Given the description of an element on the screen output the (x, y) to click on. 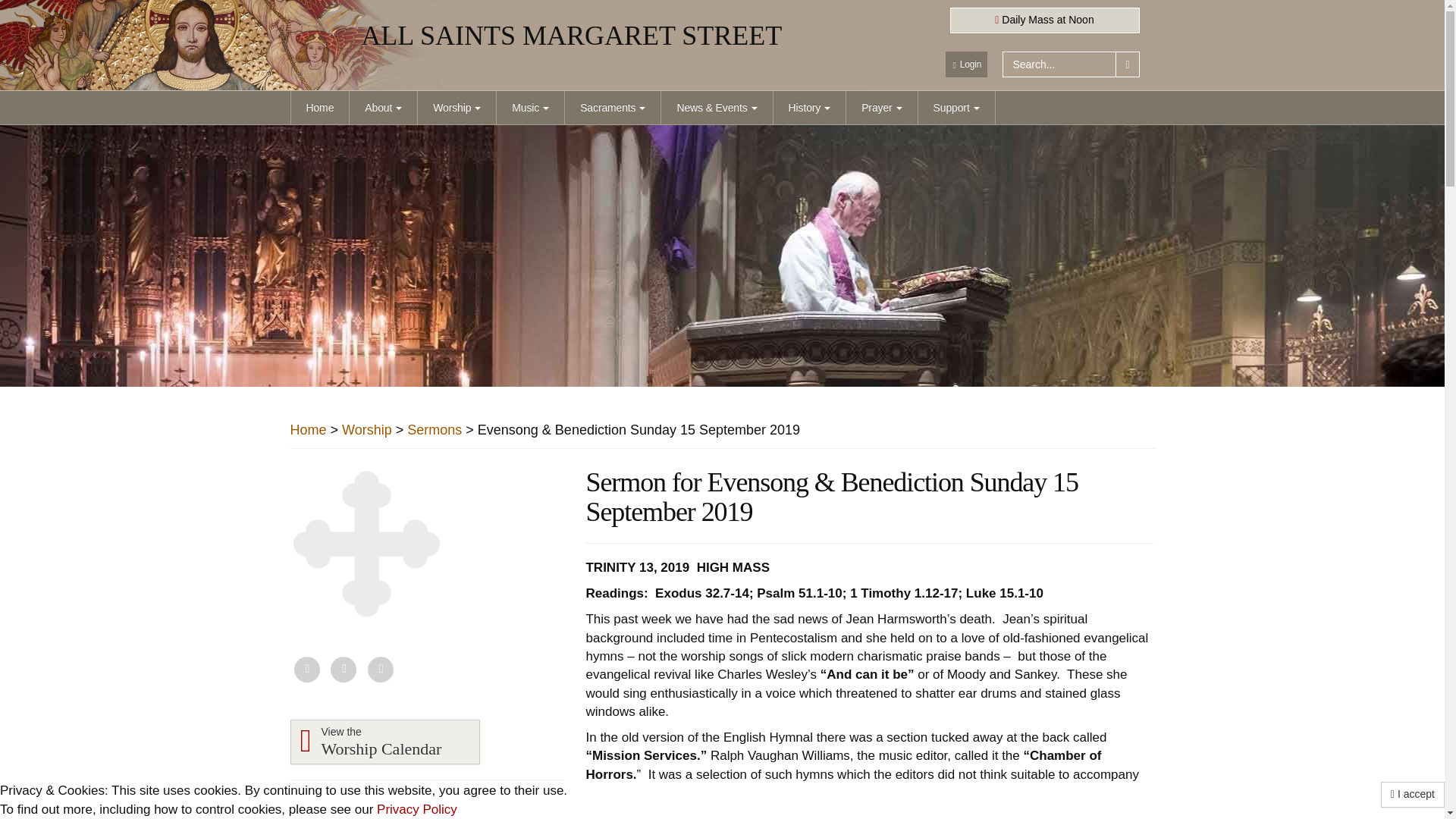
Worship (456, 107)
Music (529, 107)
Music (529, 107)
Privacy Policy (417, 809)
About (382, 107)
Search... (1059, 63)
Worship (456, 107)
Home (320, 107)
About (382, 107)
Home (320, 107)
Sacraments (612, 107)
